Given the description of an element on the screen output the (x, y) to click on. 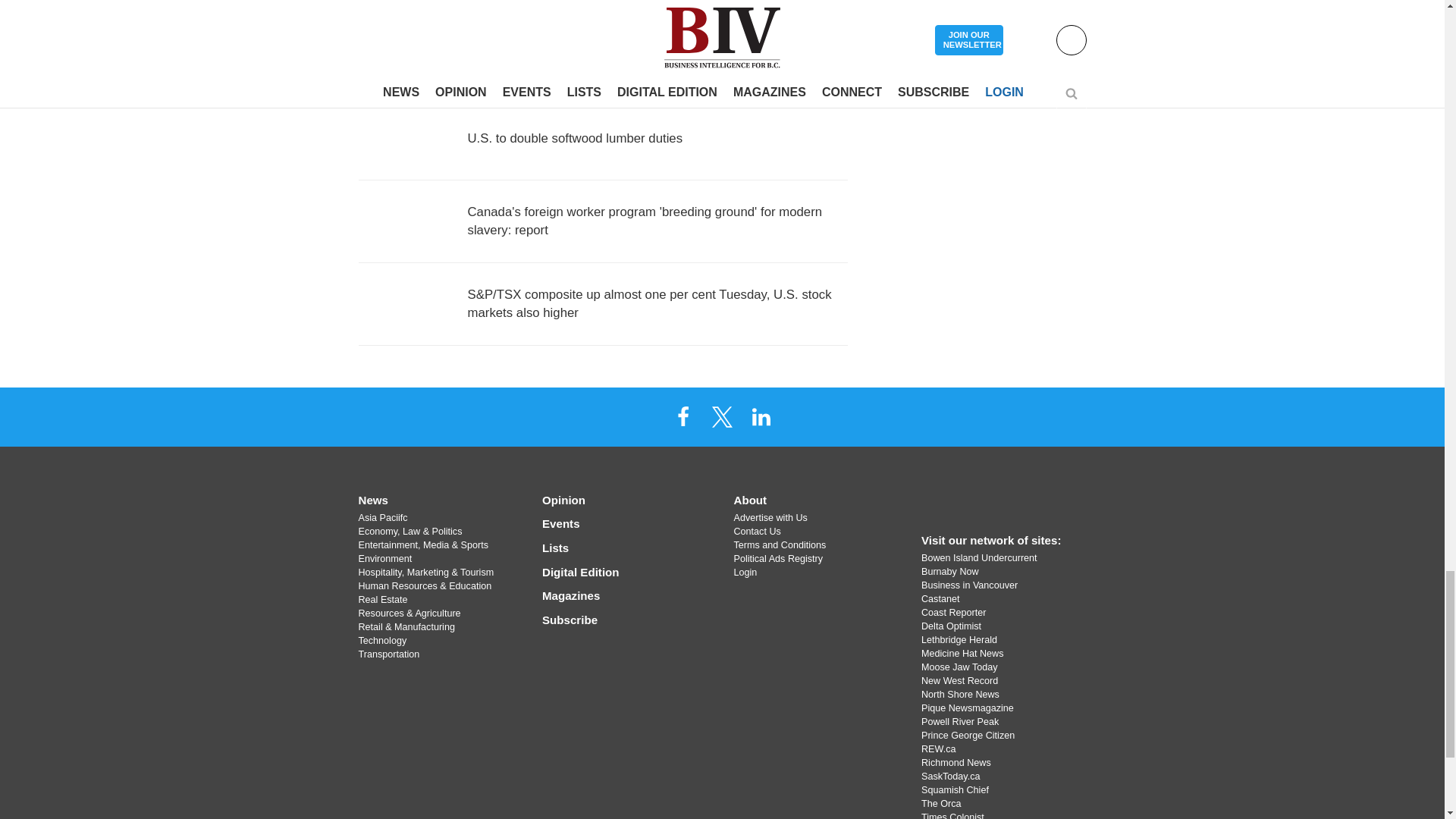
Facebook (683, 416)
LinkedIn (760, 416)
X (721, 416)
